Given the description of an element on the screen output the (x, y) to click on. 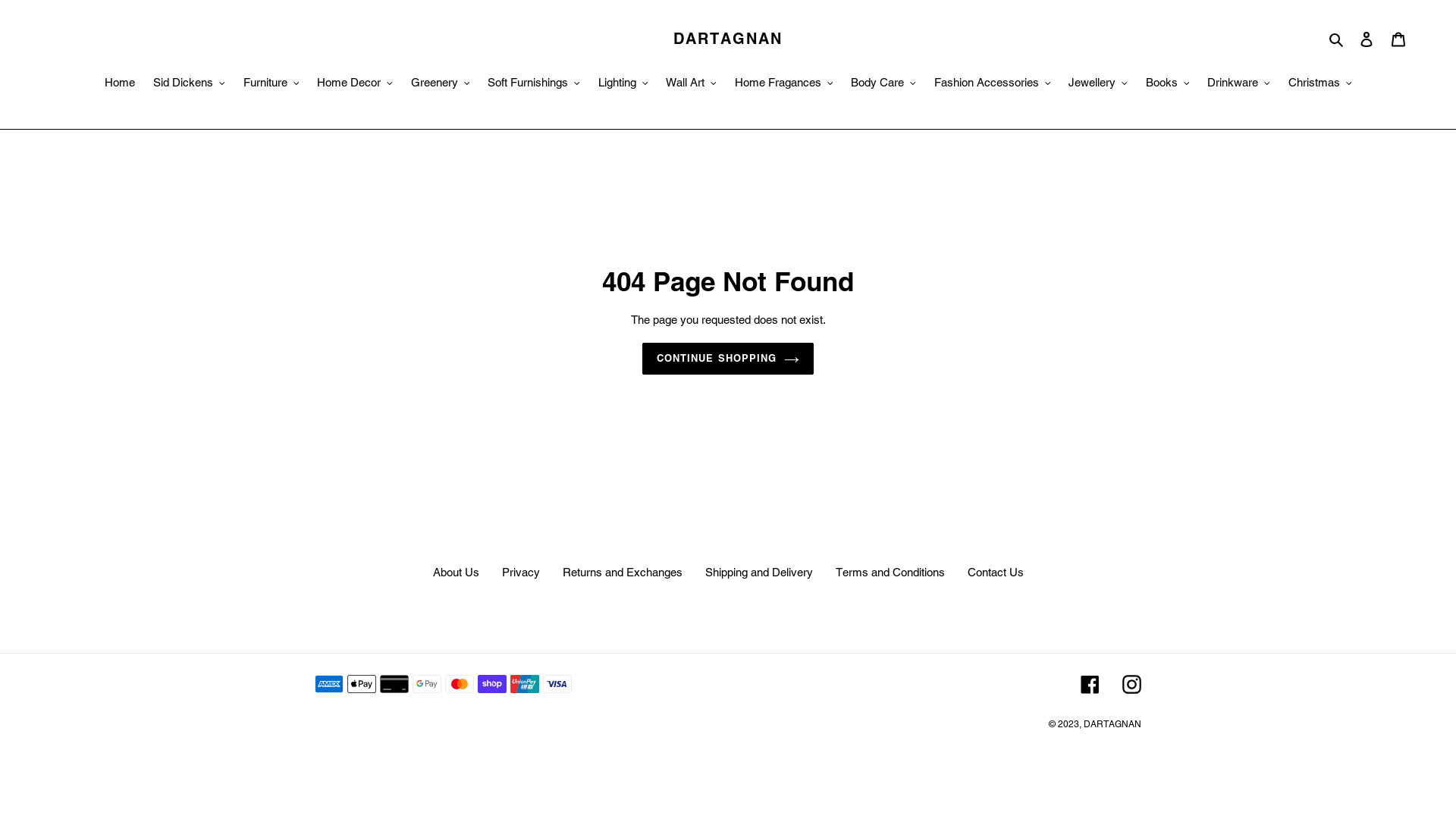
Returns and Exchanges Element type: text (622, 571)
Christmas Element type: text (1319, 84)
DARTAGNAN Element type: text (1112, 723)
Body Care Element type: text (883, 84)
DARTAGNAN Element type: text (727, 38)
Lighting Element type: text (622, 84)
Furniture Element type: text (270, 84)
Books Element type: text (1166, 84)
Greenery Element type: text (440, 84)
Home Element type: text (119, 84)
Log in Element type: text (1366, 38)
About Us Element type: text (455, 571)
Contact Us Element type: text (995, 571)
Home Decor Element type: text (354, 84)
Home Fragances Element type: text (783, 84)
Shipping and Delivery Element type: text (758, 571)
Instagram Element type: text (1131, 683)
Drinkware Element type: text (1238, 84)
Soft Furnishings Element type: text (533, 84)
Privacy Element type: text (520, 571)
CONTINUE SHOPPING Element type: text (727, 358)
Sid Dickens Element type: text (188, 84)
Facebook Element type: text (1089, 683)
Jewellery Element type: text (1097, 84)
Search Element type: text (1337, 38)
Terms and Conditions Element type: text (889, 571)
Wall Art Element type: text (691, 84)
Fashion Accessories Element type: text (992, 84)
Cart Element type: text (1398, 38)
